Given the description of an element on the screen output the (x, y) to click on. 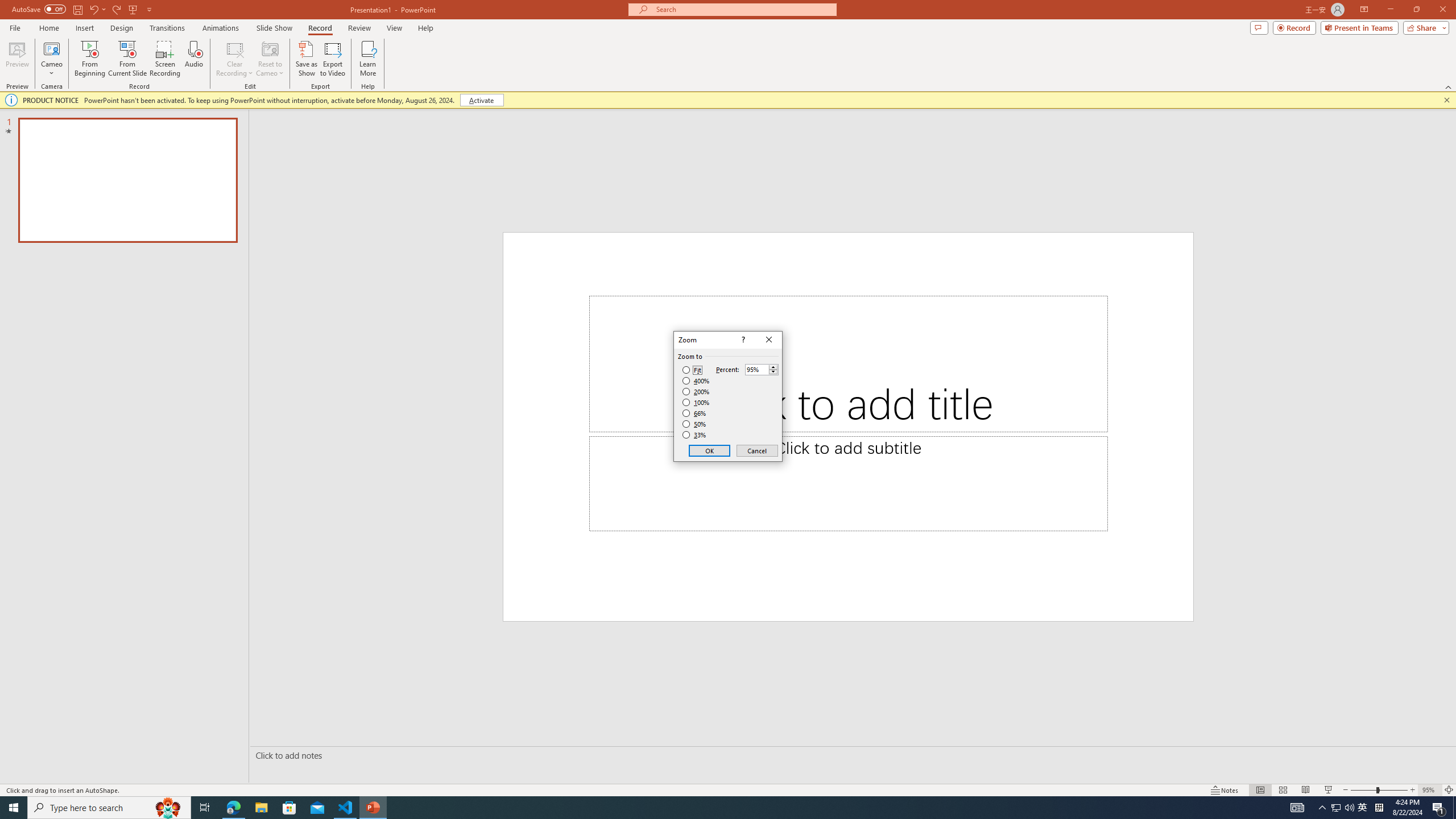
Fit (691, 370)
Percent (761, 369)
